Given the description of an element on the screen output the (x, y) to click on. 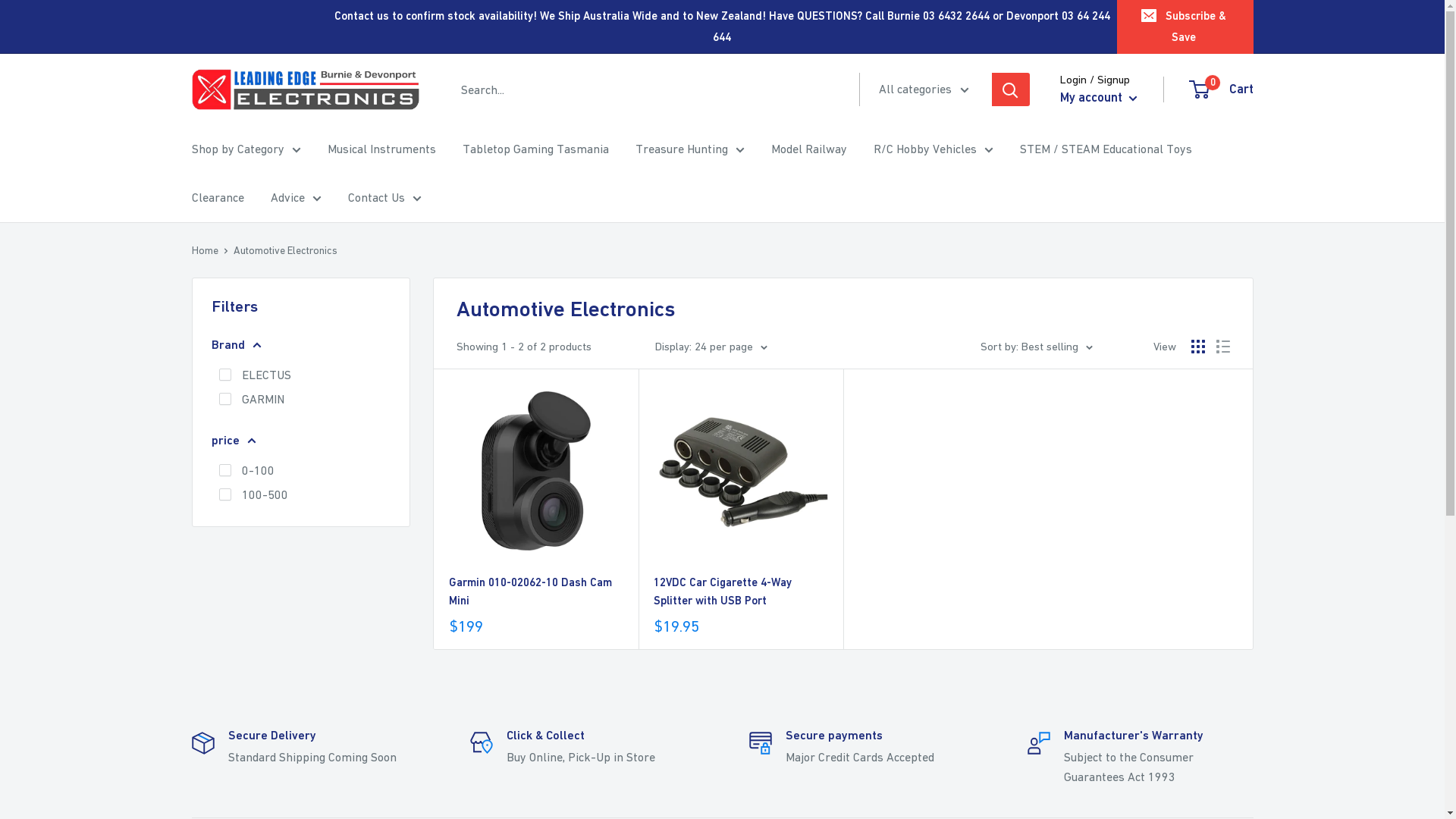
Display: 24 per page Element type: text (711, 346)
Model Railway Element type: text (808, 149)
Tabletop Gaming Tasmania Element type: text (535, 149)
Brand Element type: text (299, 344)
Home Element type: text (204, 250)
Clearance Element type: text (217, 197)
My account Element type: text (1098, 97)
STEM / STEAM Educational Toys Element type: text (1105, 149)
Contact Us Element type: text (383, 197)
Garmin 010-02062-10 Dash Cam Mini Element type: text (535, 590)
price Element type: text (299, 440)
Advice Element type: text (294, 197)
0
Cart Element type: text (1221, 89)
R/C Hobby Vehicles Element type: text (933, 149)
Shop by Category Element type: text (245, 149)
Sort by: Best selling Element type: text (1035, 346)
12VDC Car Cigarette 4-Way Splitter with USB Port Element type: text (740, 590)
Musical Instruments Element type: text (381, 149)
Subscribe & Save Element type: text (1185, 26)
Treasure Hunting Element type: text (689, 149)
